Given the description of an element on the screen output the (x, y) to click on. 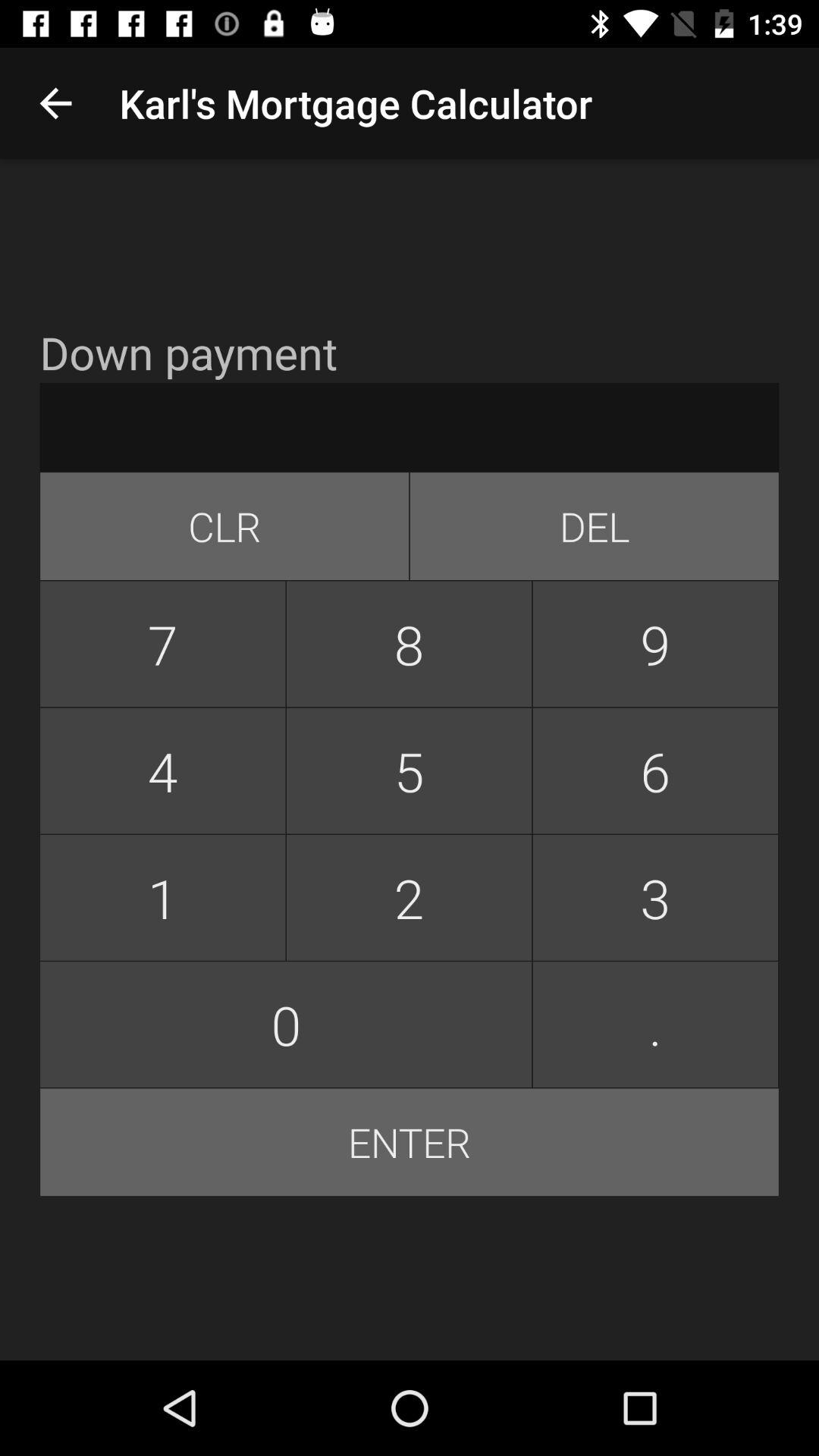
click app above down payment app (55, 103)
